Given the description of an element on the screen output the (x, y) to click on. 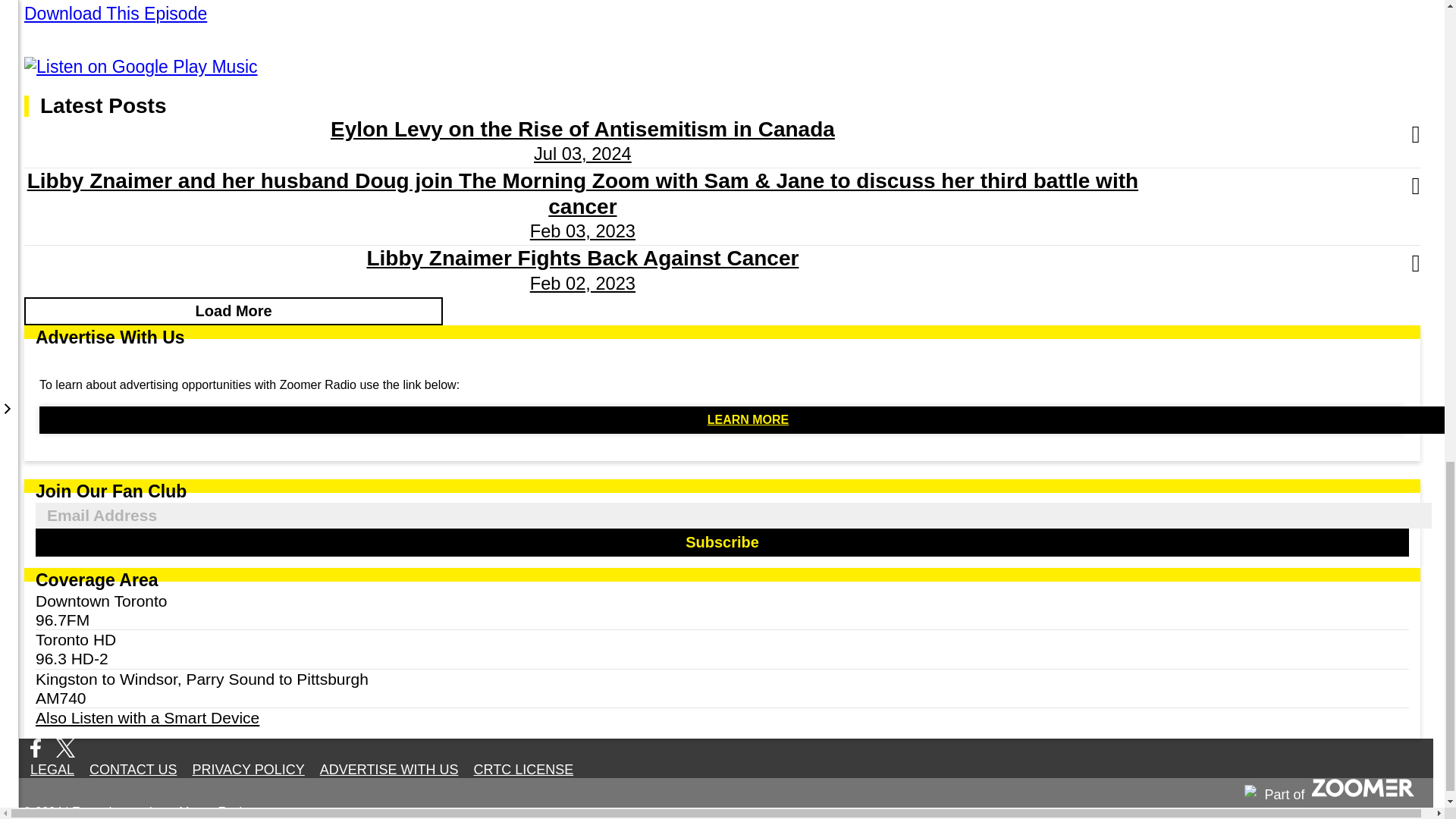
Download This Episode (115, 13)
